Given the description of an element on the screen output the (x, y) to click on. 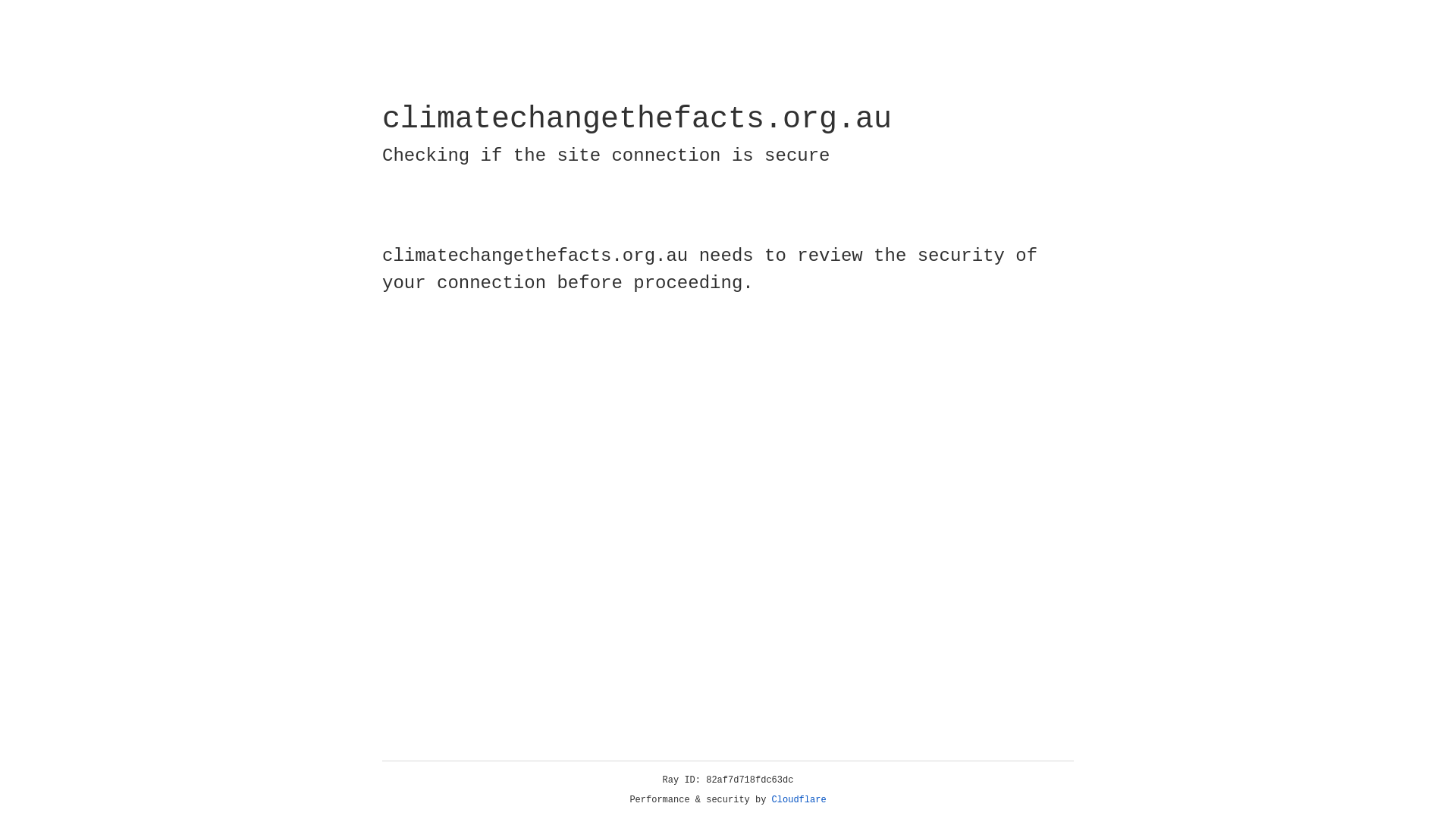
Cloudflare Element type: text (798, 799)
